Given the description of an element on the screen output the (x, y) to click on. 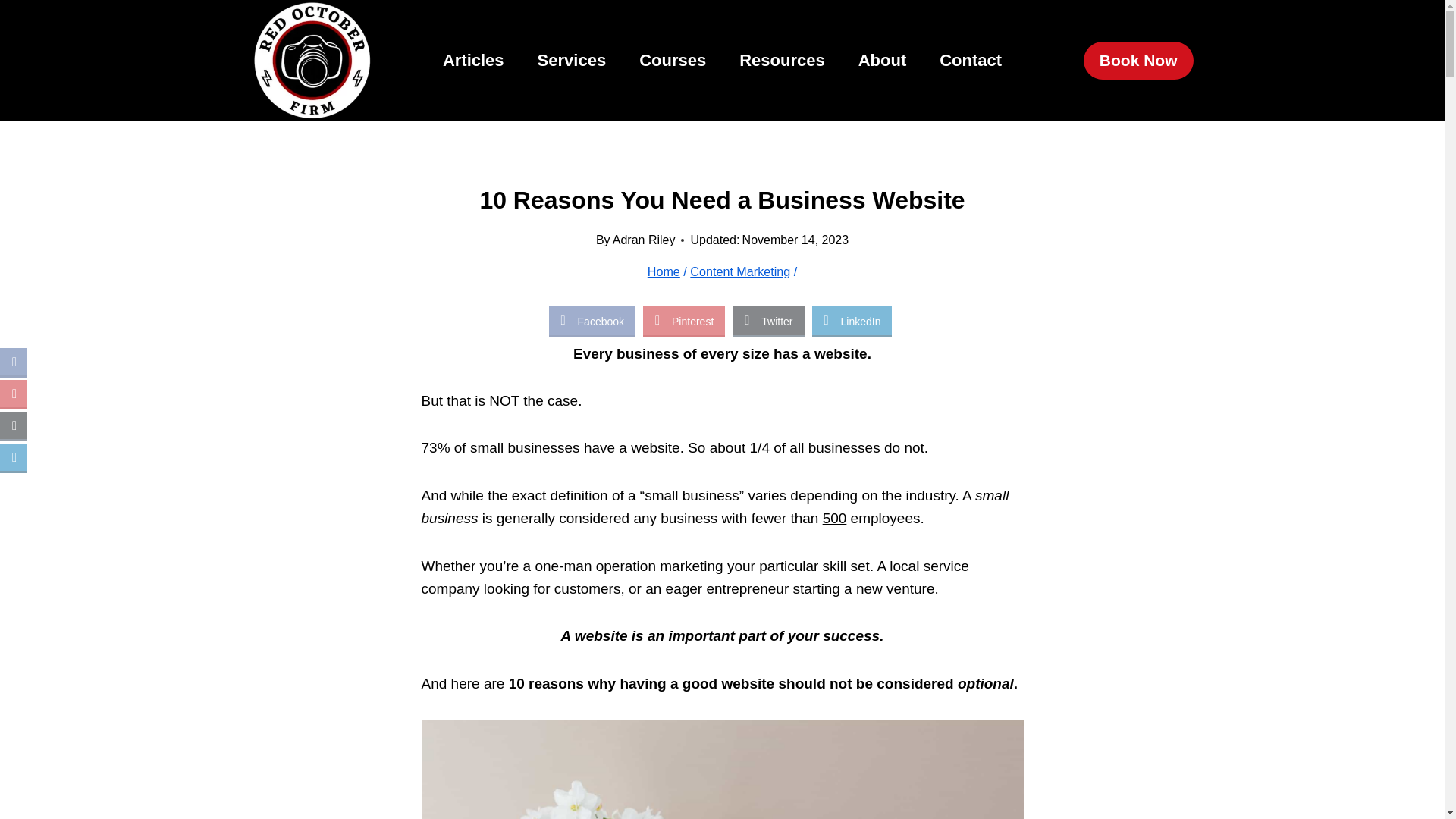
Twitter (767, 320)
Services (572, 60)
10 Reasons You Need A Business Website (722, 769)
Book Now (1138, 60)
Facebook (591, 320)
Contact (970, 60)
Pinterest (684, 320)
Resources (781, 60)
About (882, 60)
Adran Riley (643, 239)
Content Marketing (740, 271)
Articles (473, 60)
LinkedIn (852, 320)
Home (663, 271)
Courses (672, 60)
